Given the description of an element on the screen output the (x, y) to click on. 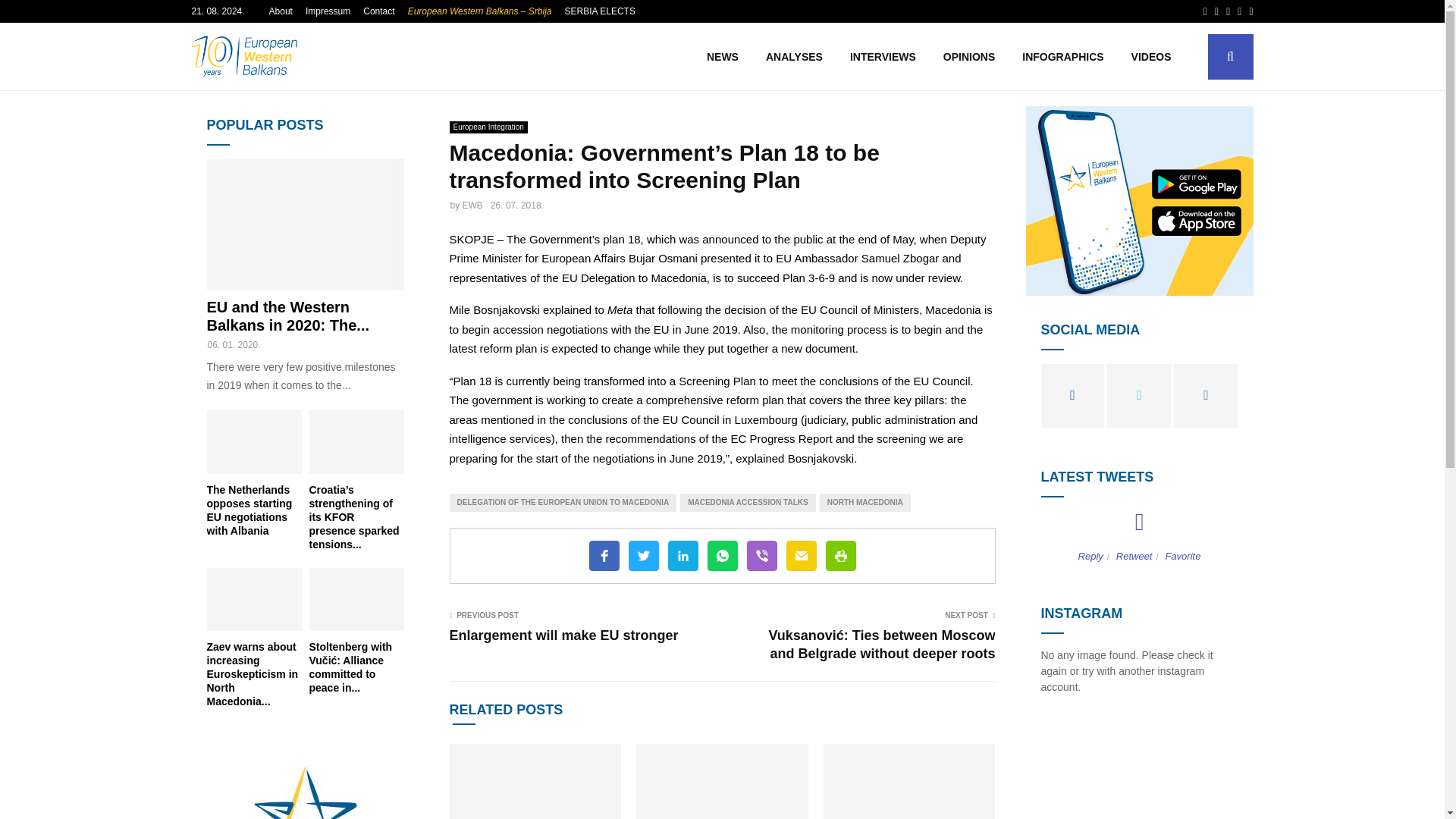
Email (800, 555)
INTERVIEWS (882, 56)
About (280, 11)
Print (840, 555)
Contact (378, 11)
Viber (760, 555)
SERBIA ELECTS (599, 11)
NORTH MACEDONIA (865, 502)
Impressum (327, 11)
OPINIONS (969, 56)
